Given the description of an element on the screen output the (x, y) to click on. 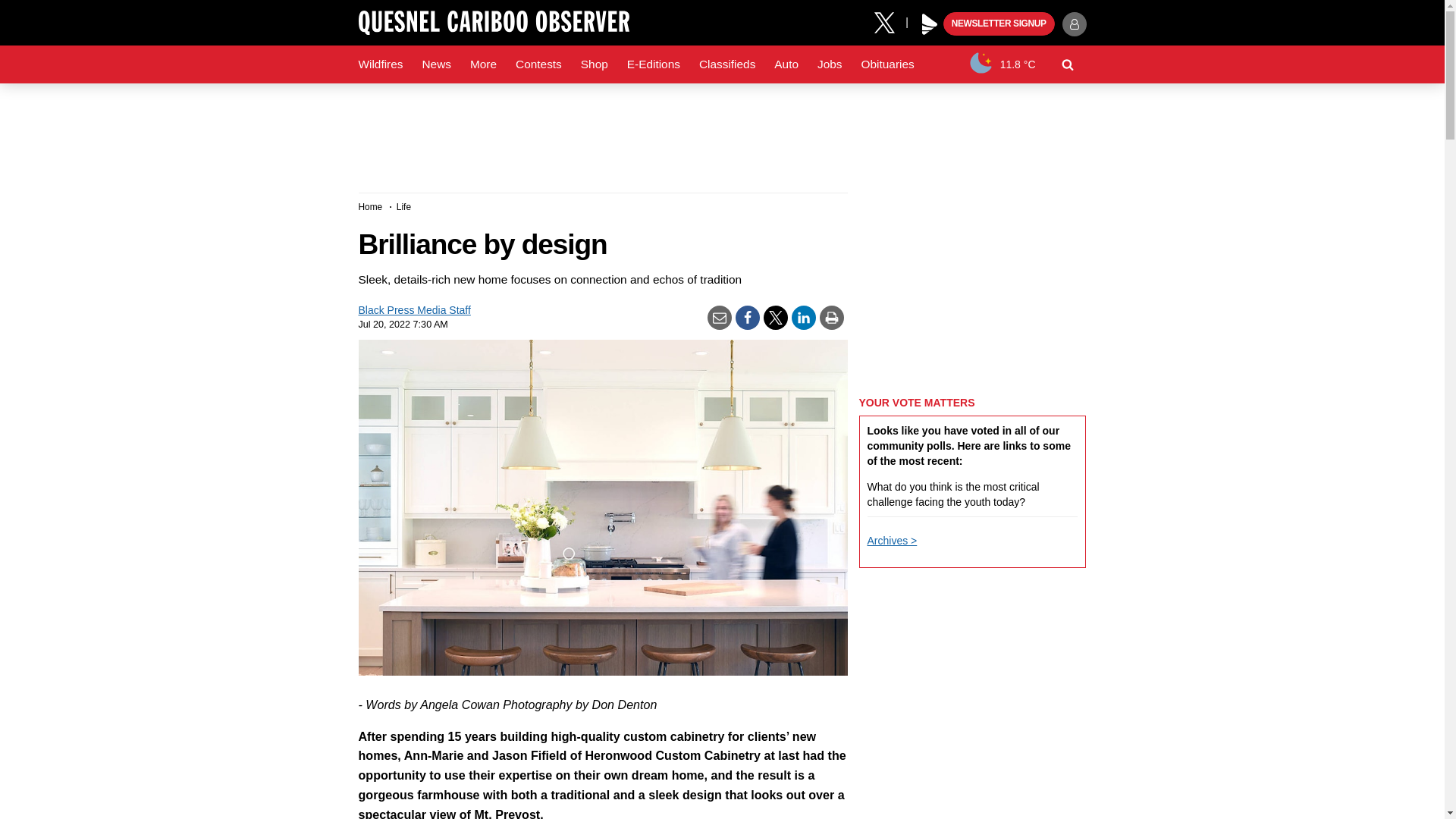
Wildfires (380, 64)
Play (929, 24)
X (889, 21)
NEWSLETTER SIGNUP (998, 24)
News (435, 64)
Black Press Media (929, 24)
